Given the description of an element on the screen output the (x, y) to click on. 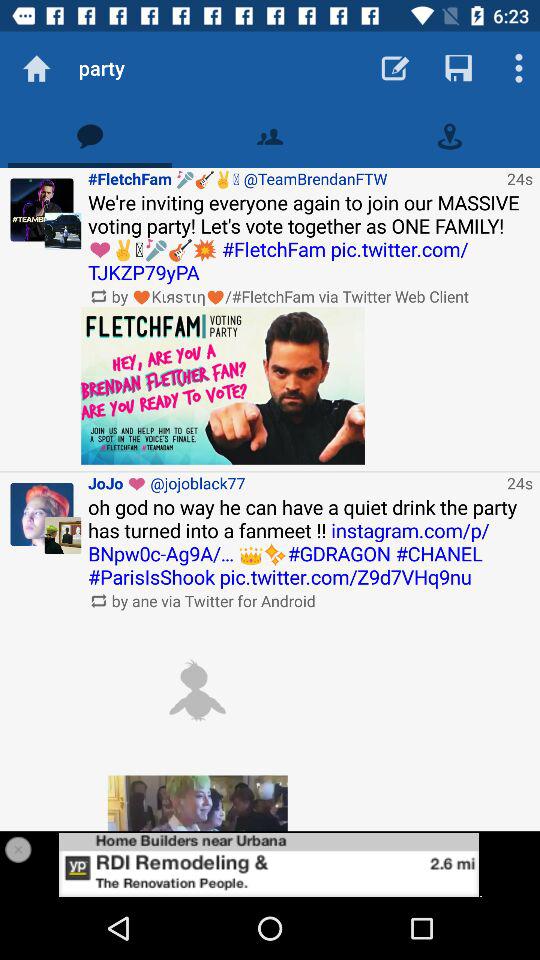
launch the icon next to the 24s (294, 178)
